Given the description of an element on the screen output the (x, y) to click on. 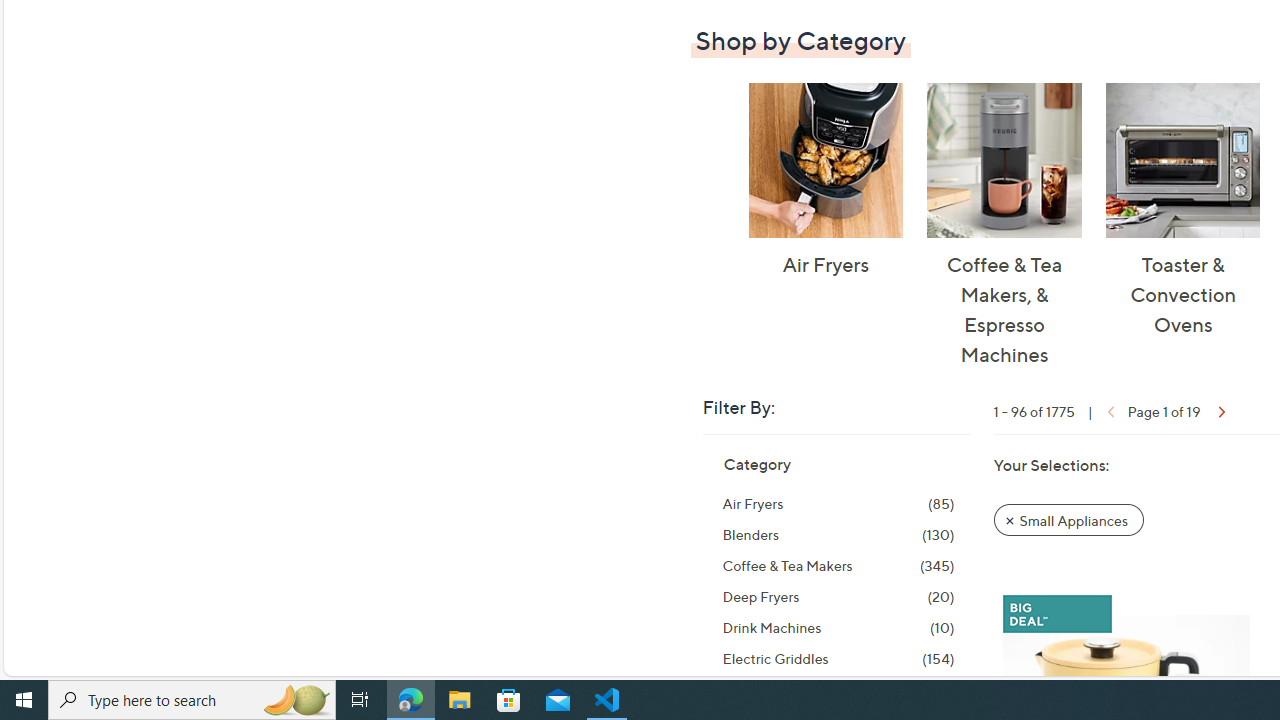
Coffee & Tea Makers, & Espresso Machines (1003, 160)
Category (756, 463)
Blenders, 130 items (837, 534)
Deep Fryers, 20 items (837, 596)
Drink Machines, 10 items (837, 628)
Air Fryers, 85 items (837, 503)
Small Appliances (1069, 519)
Toaster & Convection Ovens Toaster & Convection Ovens (1182, 210)
Air Fryers (825, 160)
Remove Filter: Small Appliances (1068, 520)
Air Fryers Air Fryers (825, 181)
Coffee & Tea Makers, 345 items (837, 565)
Next Page (1219, 410)
Previous Page (1108, 410)
